Given the description of an element on the screen output the (x, y) to click on. 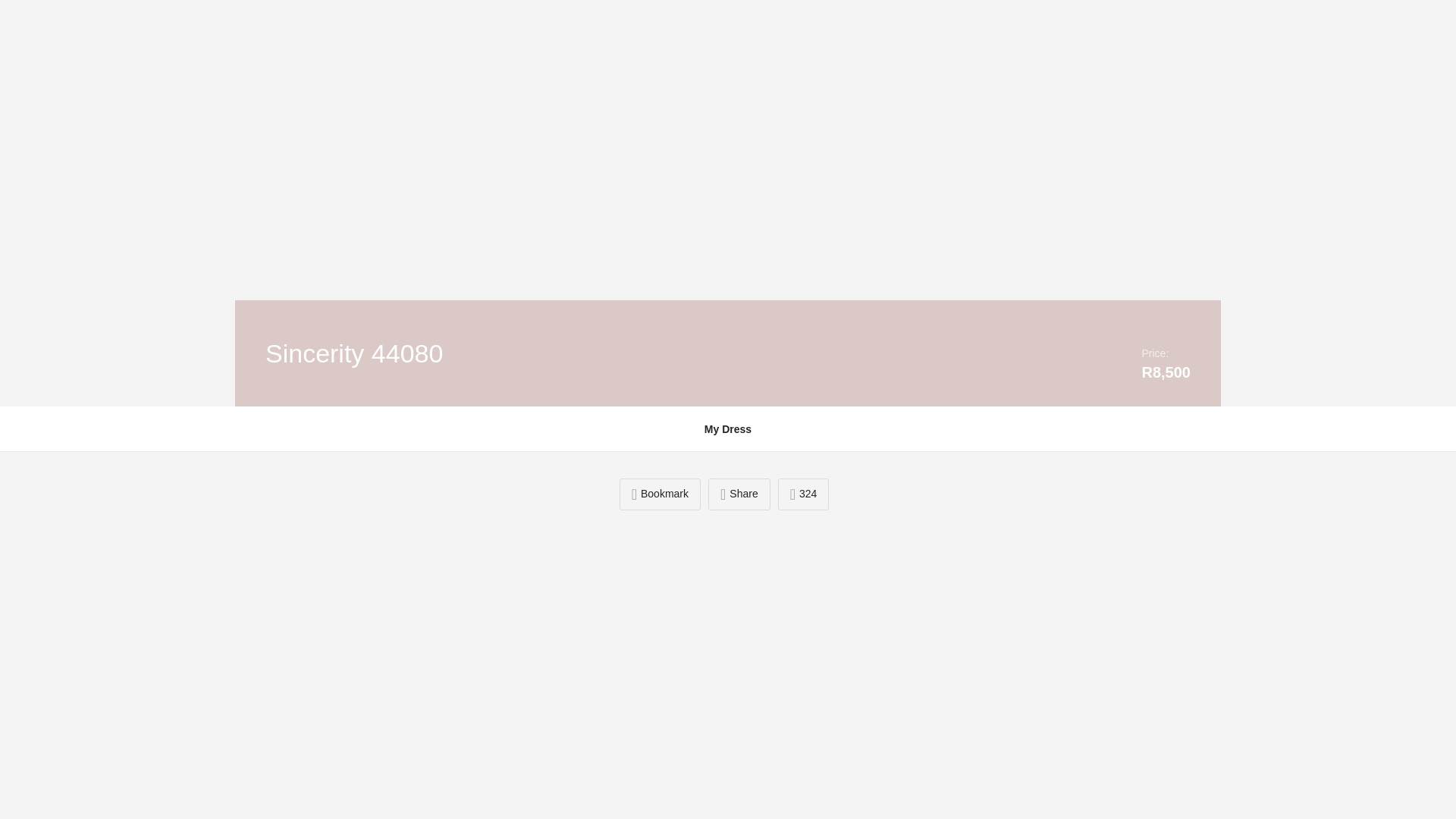
Share (738, 494)
324 (803, 494)
Bookmark (660, 494)
My Dress (727, 429)
